Given the description of an element on the screen output the (x, y) to click on. 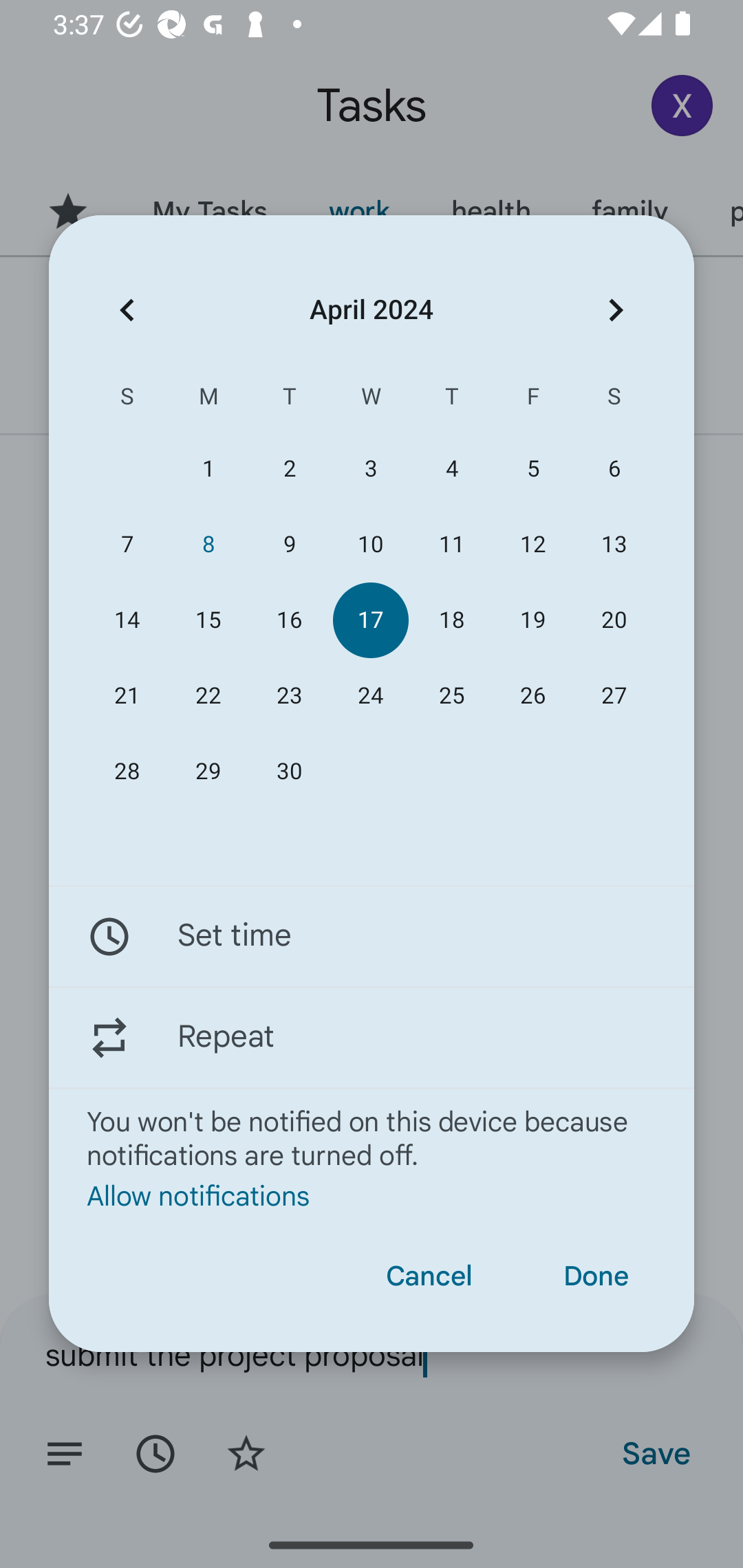
Previous month (126, 309)
Next month (615, 309)
1 01 April 2024 (207, 468)
2 02 April 2024 (288, 468)
3 03 April 2024 (370, 468)
4 04 April 2024 (451, 468)
5 05 April 2024 (532, 468)
6 06 April 2024 (613, 468)
7 07 April 2024 (126, 543)
8 08 April 2024 (207, 543)
9 09 April 2024 (288, 543)
10 10 April 2024 (370, 543)
11 11 April 2024 (451, 543)
12 12 April 2024 (532, 543)
13 13 April 2024 (613, 543)
14 14 April 2024 (126, 619)
15 15 April 2024 (207, 619)
16 16 April 2024 (288, 619)
17 17 April 2024 (370, 619)
18 18 April 2024 (451, 619)
19 19 April 2024 (532, 619)
20 20 April 2024 (613, 619)
21 21 April 2024 (126, 695)
22 22 April 2024 (207, 695)
23 23 April 2024 (288, 695)
24 24 April 2024 (370, 695)
25 25 April 2024 (451, 695)
26 26 April 2024 (532, 695)
27 27 April 2024 (613, 695)
28 28 April 2024 (126, 771)
29 29 April 2024 (207, 771)
30 30 April 2024 (288, 771)
Set time (371, 936)
Repeat (371, 1036)
Allow notifications (371, 1195)
Cancel (429, 1275)
Done (595, 1275)
